Given the description of an element on the screen output the (x, y) to click on. 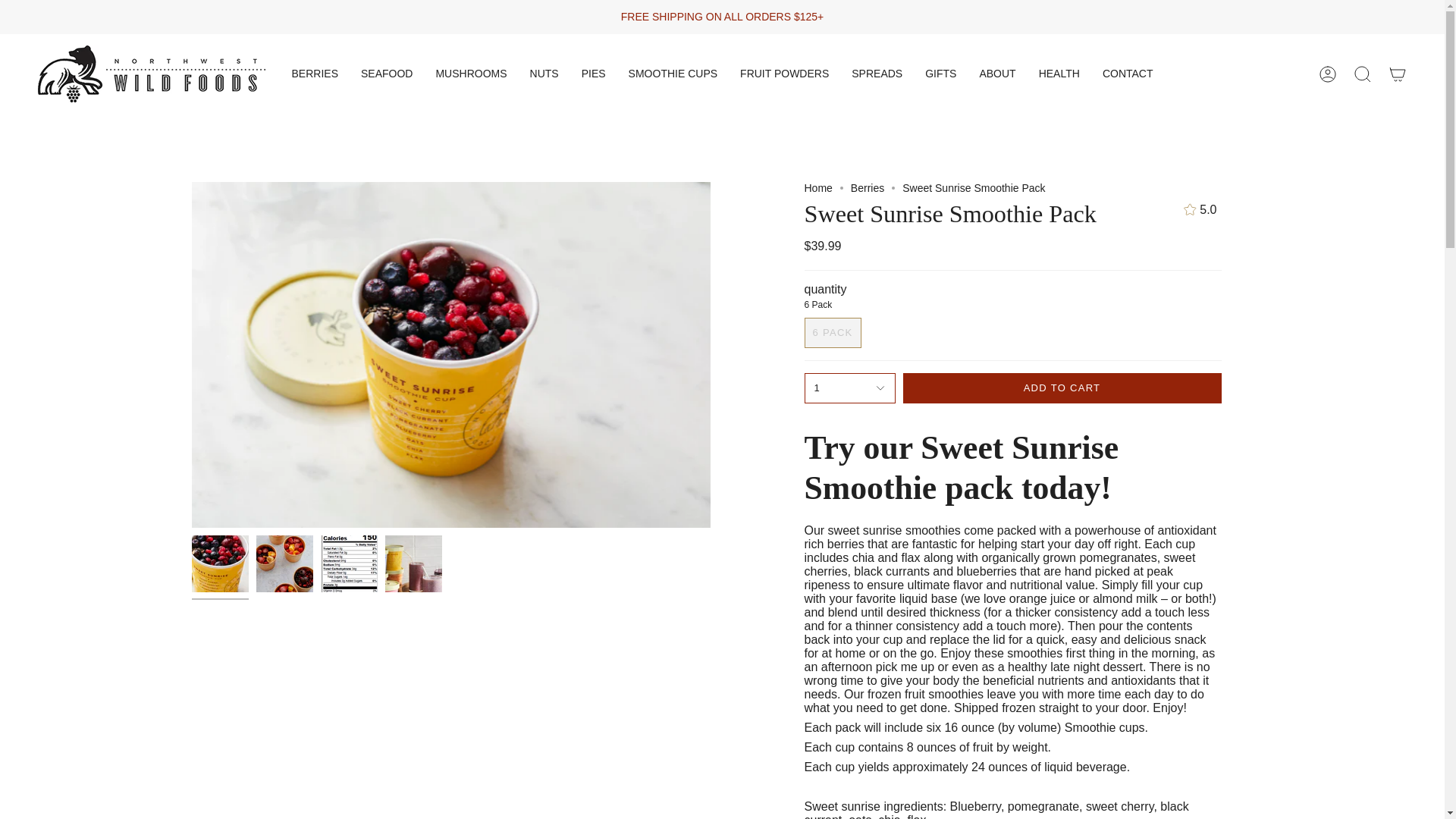
FRUIT POWDERS (784, 73)
SEAFOOD (386, 73)
SPREADS (877, 73)
MUSHROOMS (470, 73)
SMOOTHIE CUPS (673, 73)
